Given the description of an element on the screen output the (x, y) to click on. 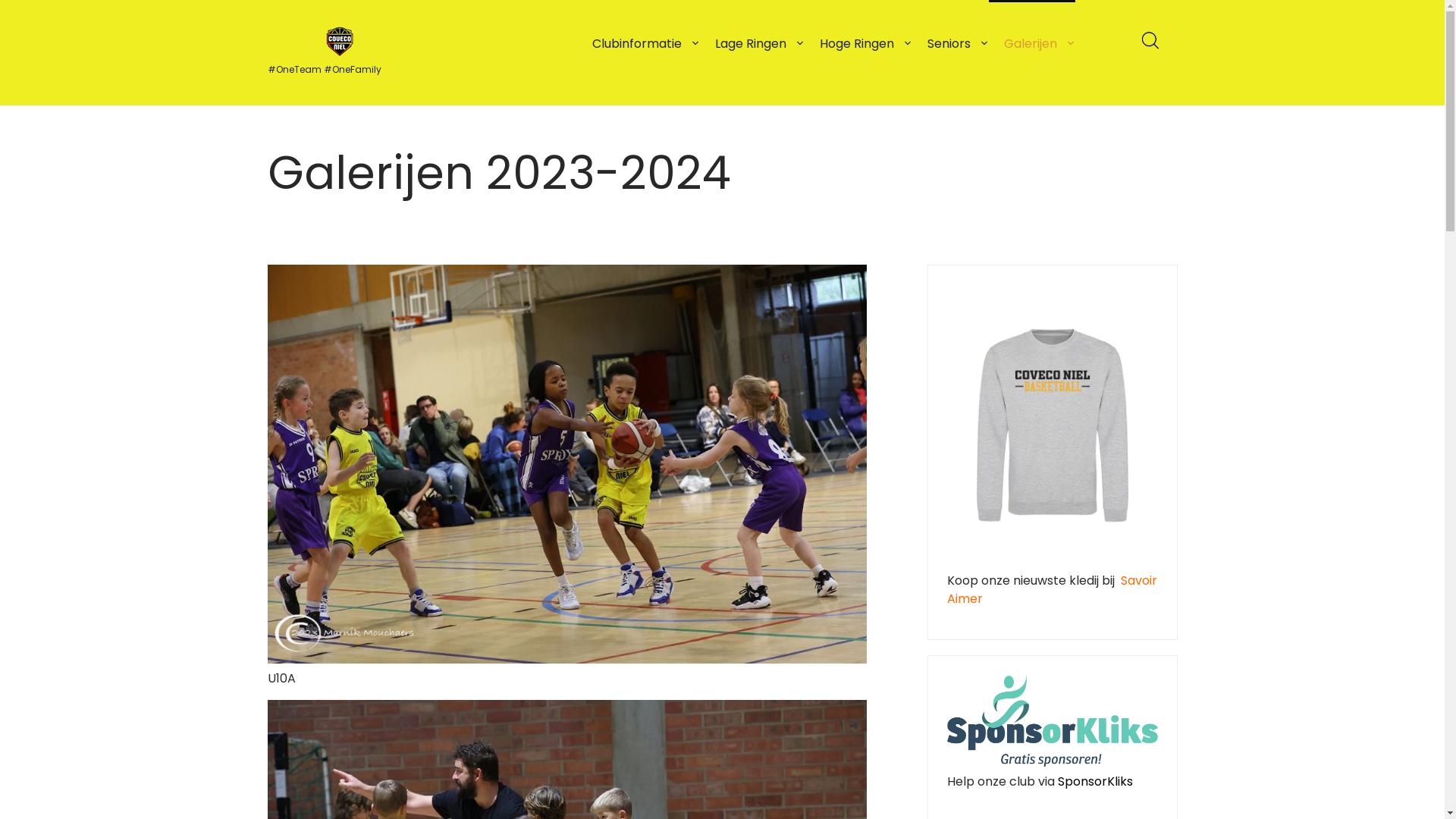
Galerijen Element type: text (1031, 43)
#OneTeam #OneFamily Element type: text (338, 67)
Seniors Element type: text (949, 43)
Hoge Ringen Element type: text (857, 43)
Clubinformatie Element type: text (637, 43)
Savoir Aimer Element type: text (1051, 589)
SponsorKliks Element type: text (1094, 781)
Lage Ringen Element type: text (751, 43)
